Given the description of an element on the screen output the (x, y) to click on. 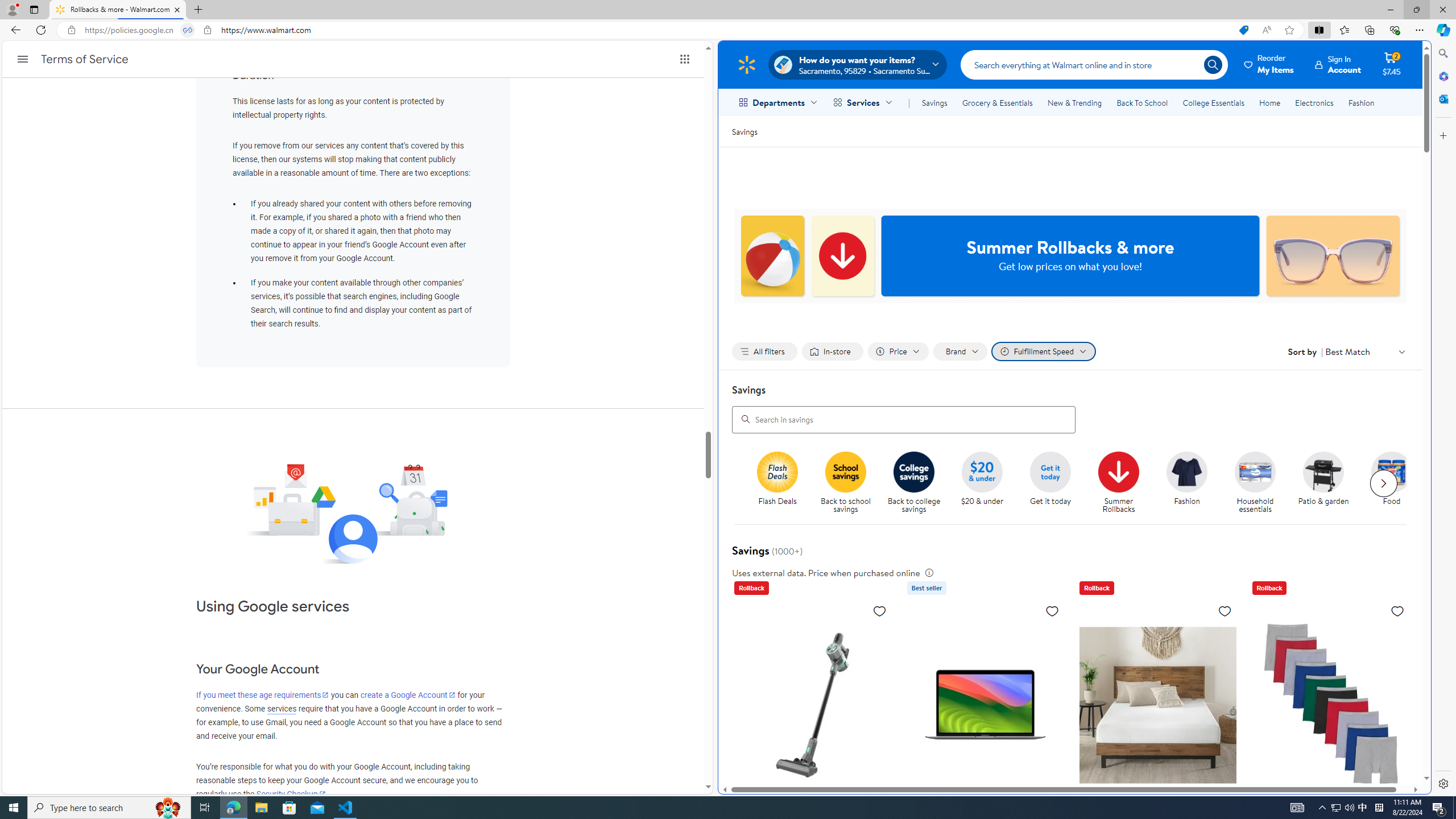
Tabs in split screen (187, 29)
Reorder My Items (1269, 64)
Filter by Brand not applied, activate to change (960, 351)
Flash deals Flash Deals (777, 478)
Grocery & Essentials (997, 102)
legal information (928, 572)
Patio & garden Patio & garden (1323, 478)
Back to School savings (845, 471)
$20 and under (982, 471)
College Essentials (1213, 102)
Search icon (1212, 64)
Food (1395, 483)
Filter by Price not applied, activate to change (897, 351)
